Given the description of an element on the screen output the (x, y) to click on. 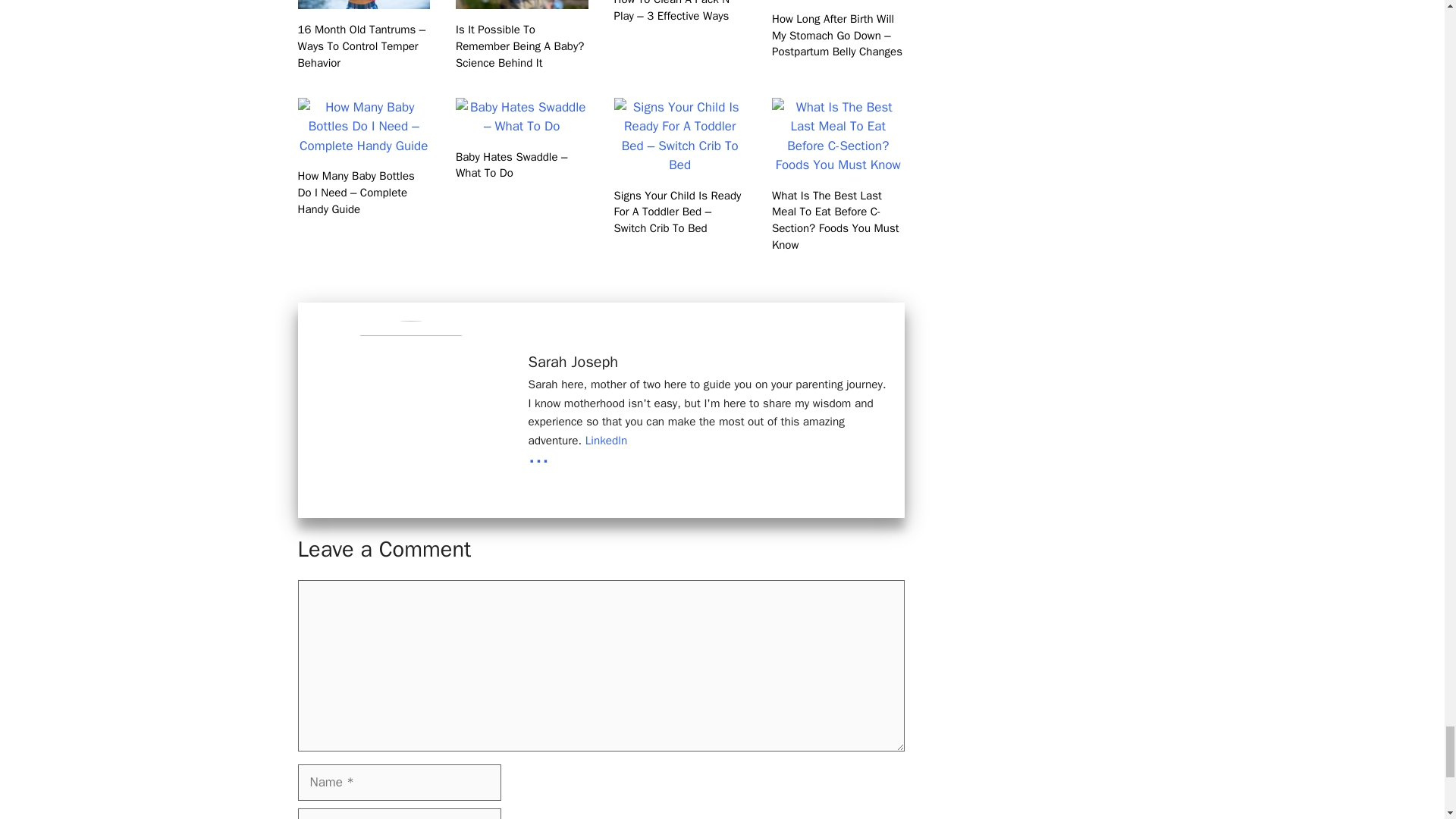
Is It Possible To Remember Being A Baby? Science Behind It (521, 3)
